Given the description of an element on the screen output the (x, y) to click on. 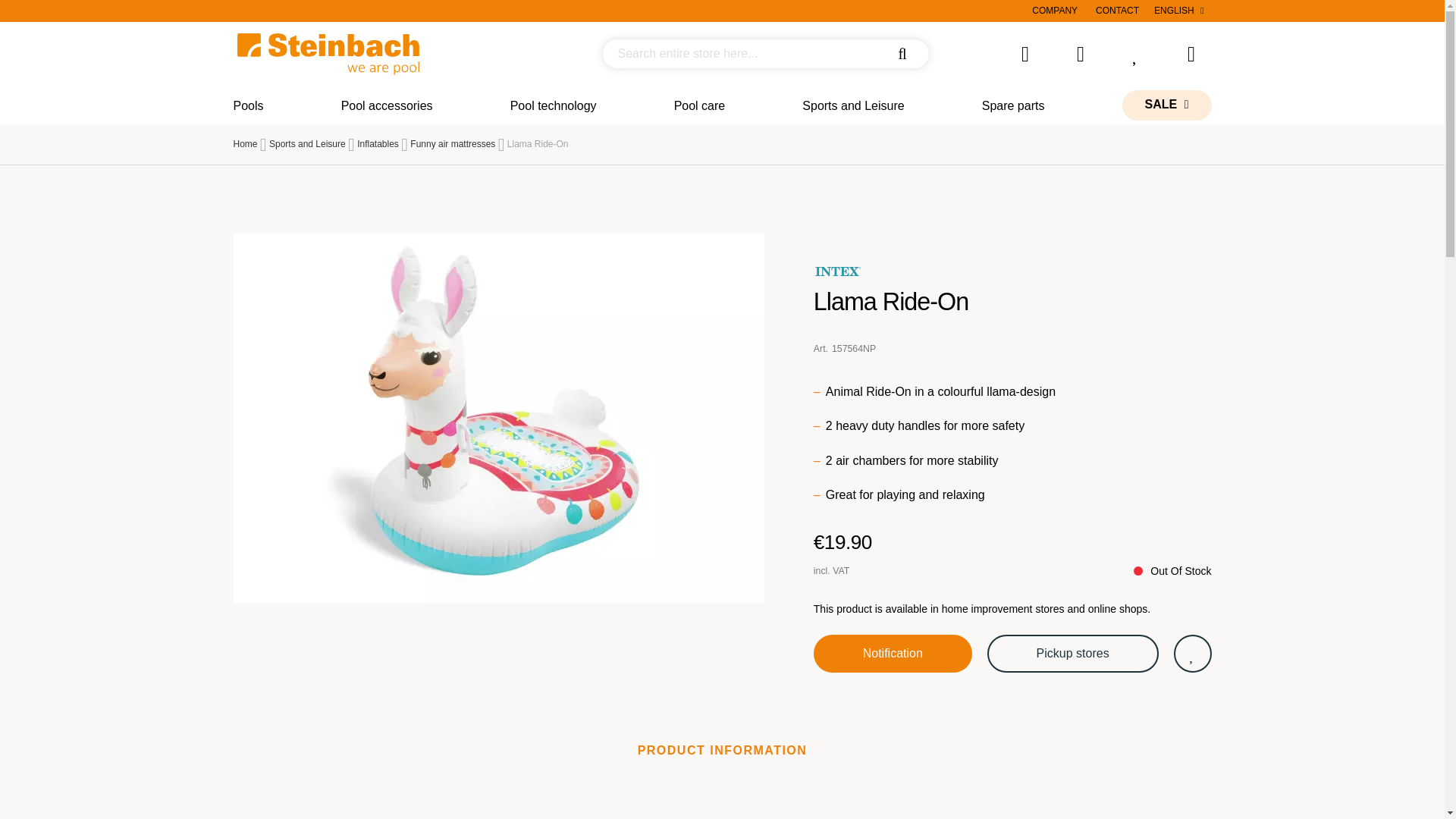
Go to Home Page (244, 143)
FAQs (1025, 56)
Search (901, 53)
Availability (1172, 571)
CONTACT (1117, 11)
Pool accessories (386, 105)
My Account (1080, 56)
COMPANY (1054, 11)
Pools (247, 105)
